Given the description of an element on the screen output the (x, y) to click on. 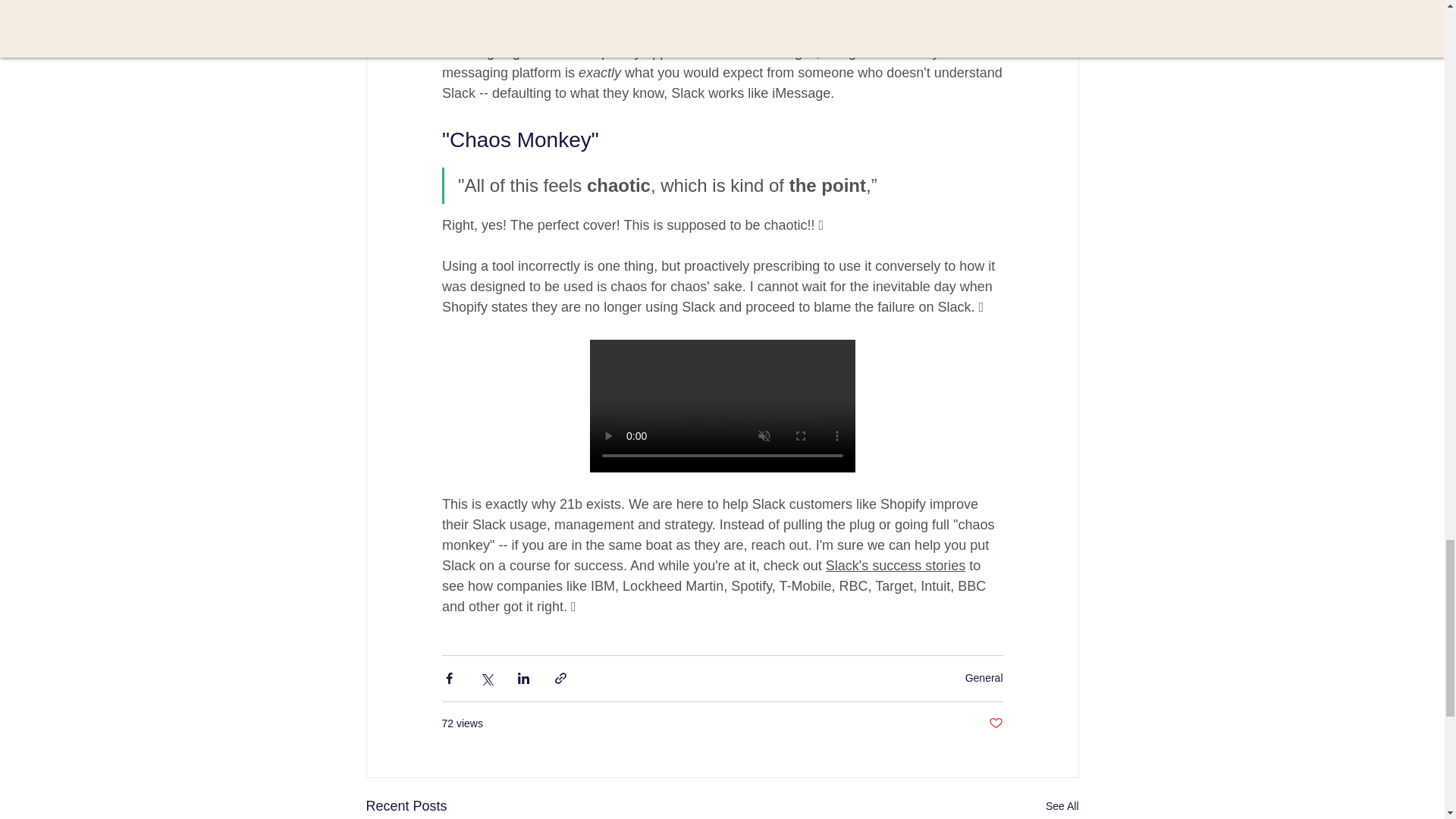
General (984, 677)
Slack's success stories (895, 565)
Post not marked as liked (995, 723)
See All (1061, 806)
